Given the description of an element on the screen output the (x, y) to click on. 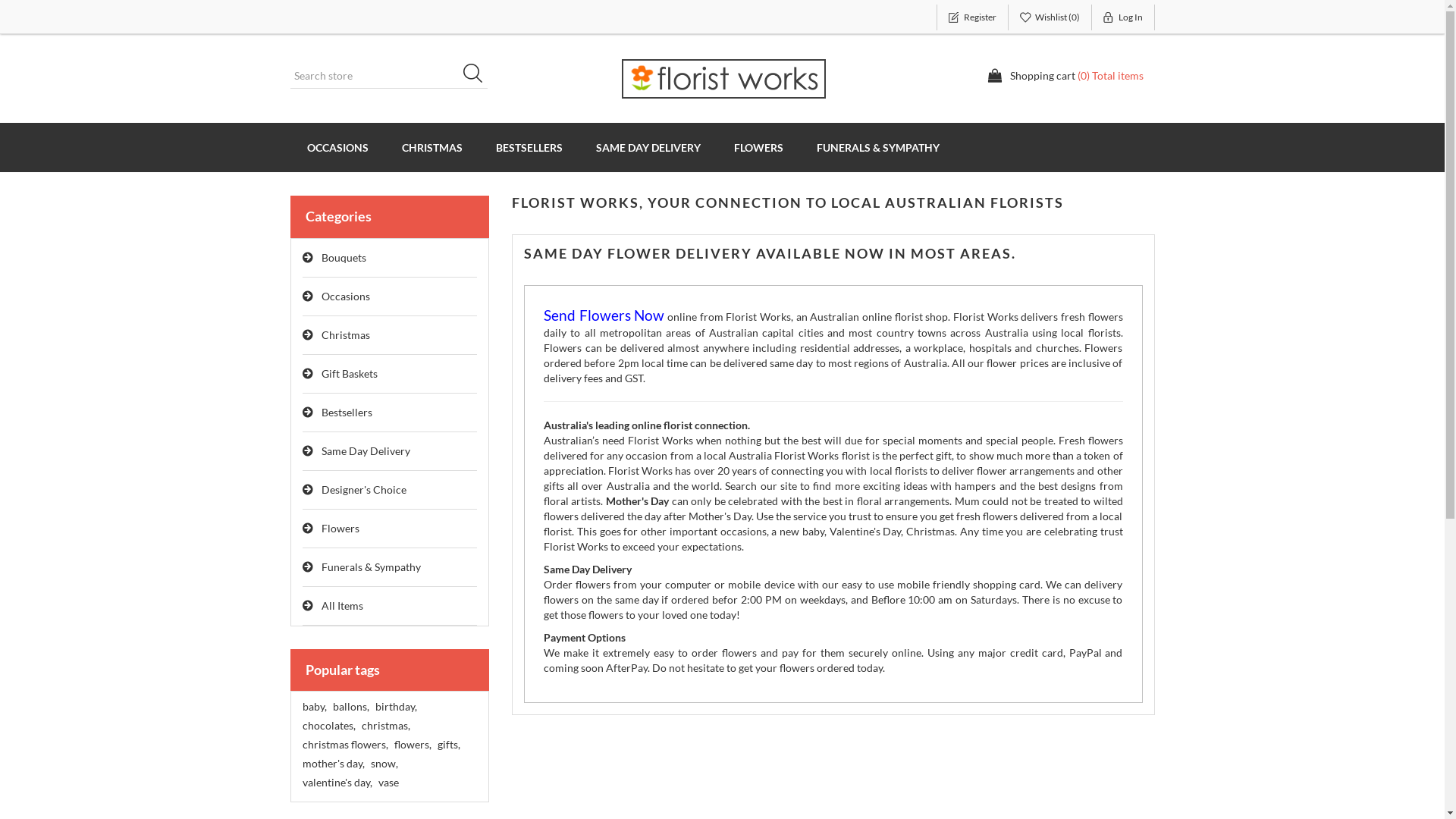
valentine's day, Element type: text (336, 782)
SAME DAY DELIVERY Element type: text (648, 147)
Occasions Element type: text (388, 296)
Wishlist (0) Element type: text (1050, 17)
All Items Element type: text (388, 605)
FLOWERS Element type: text (758, 147)
Bestsellers Element type: text (388, 412)
Same Day Delivery Element type: text (388, 451)
Send Flowers Now Element type: text (603, 316)
Gift Baskets Element type: text (388, 373)
ballons, Element type: text (350, 706)
OCCASIONS Element type: text (336, 147)
Christmas Element type: text (388, 335)
chocolates, Element type: text (327, 725)
baby, Element type: text (313, 706)
Designer's Choice Element type: text (388, 489)
FUNERALS & SYMPATHY Element type: text (877, 147)
Log In Element type: text (1123, 17)
christmas, Element type: text (384, 725)
Register Element type: text (971, 17)
vase Element type: text (387, 782)
Funerals & Sympathy Element type: text (388, 567)
christmas flowers, Element type: text (344, 744)
gifts, Element type: text (447, 744)
snow, Element type: text (383, 763)
birthday, Element type: text (395, 706)
Bouquets Element type: text (388, 257)
flowers, Element type: text (412, 744)
Shopping cart (0) Total items Element type: text (1065, 75)
Flowers Element type: text (388, 528)
CHRISTMAS Element type: text (432, 147)
BESTSELLERS Element type: text (529, 147)
mother's day, Element type: text (332, 763)
